Given the description of an element on the screen output the (x, y) to click on. 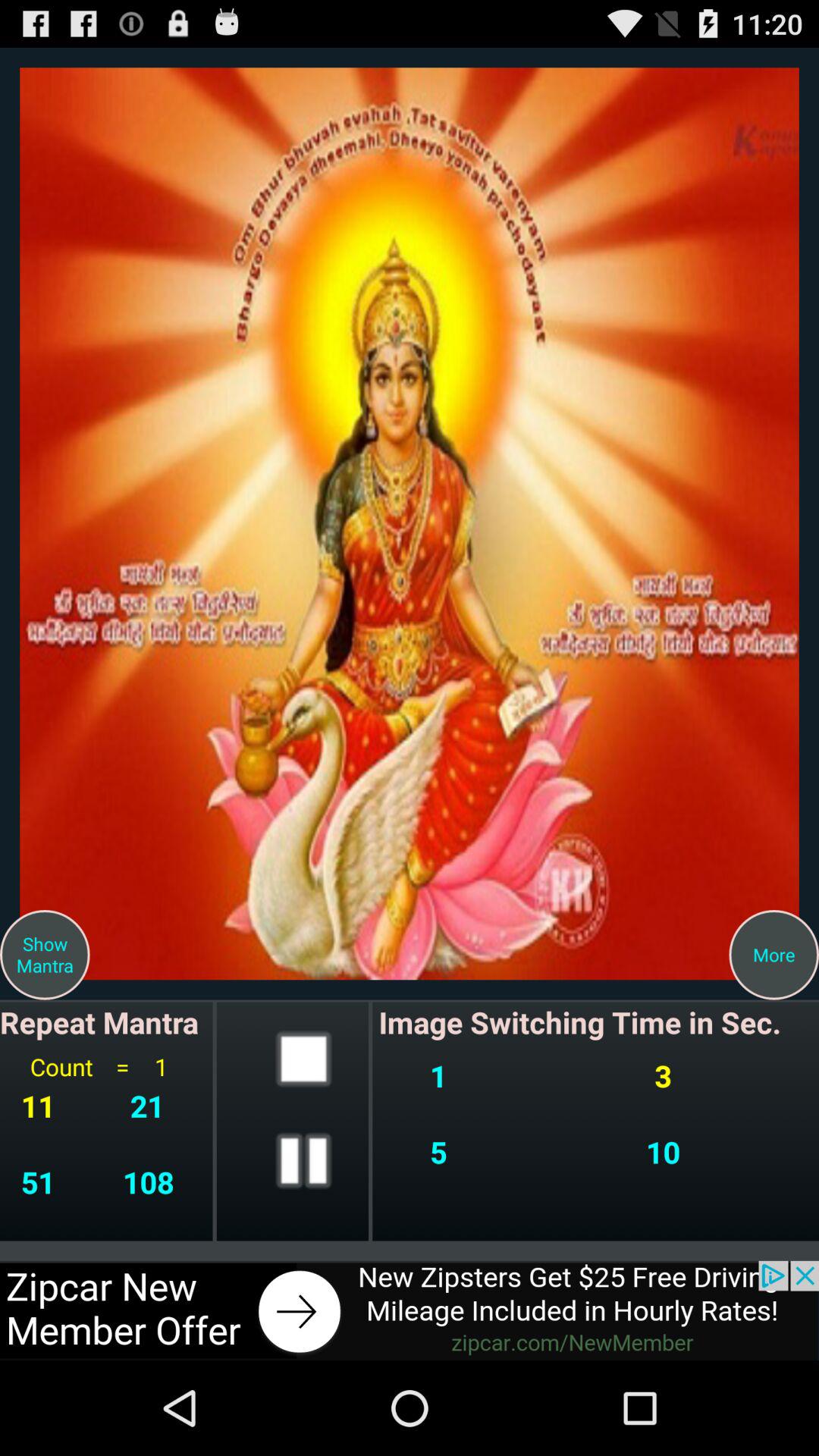
open image (409, 523)
